Given the description of an element on the screen output the (x, y) to click on. 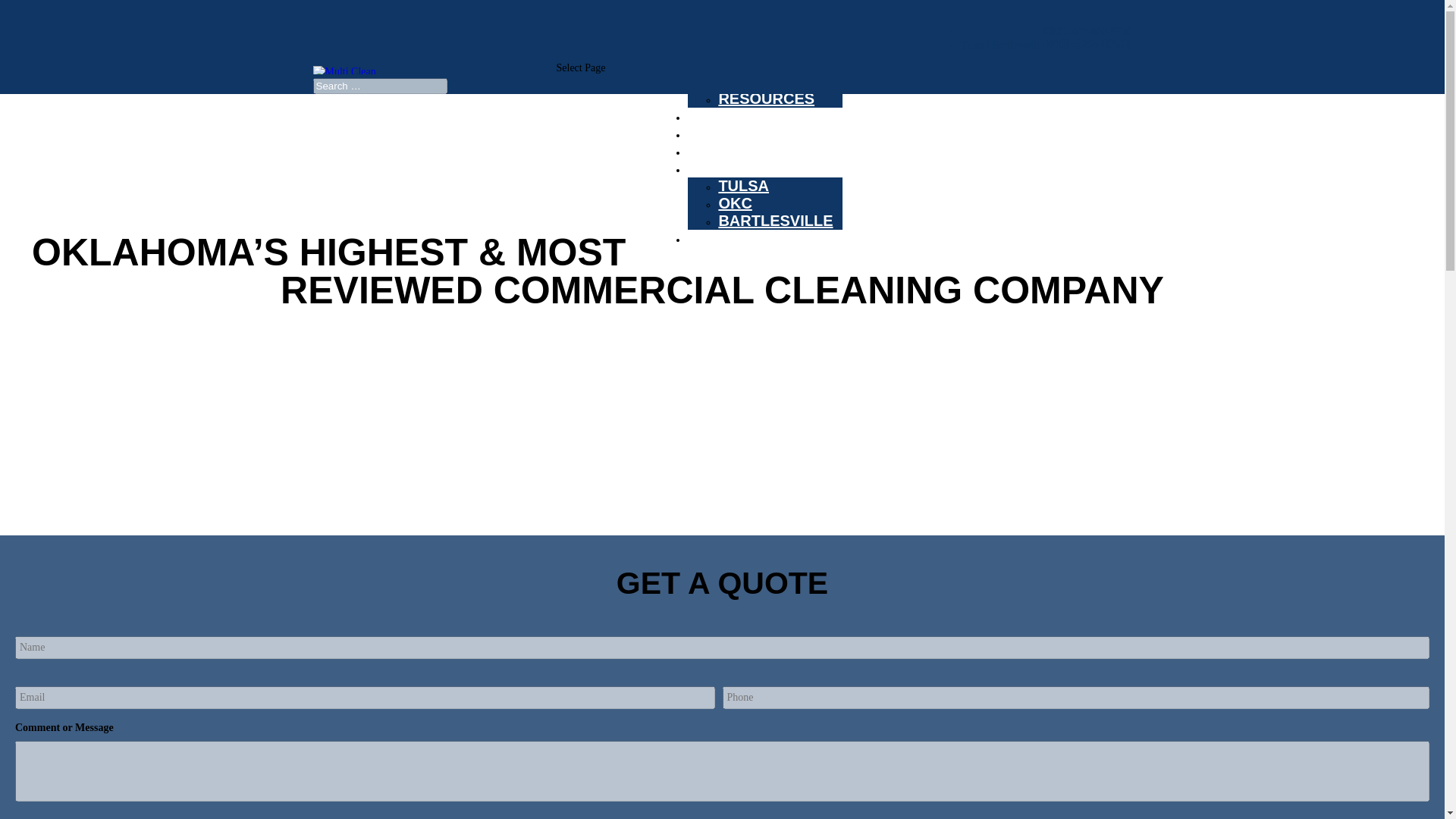
BARTLESVILLE (774, 220)
CONTACT US (736, 243)
Search for: (379, 85)
TESTIMONIALS (743, 139)
LOCATIONS (731, 173)
TULSA (742, 185)
OKC (734, 202)
918-523-8300 (1088, 43)
SERVICES (725, 121)
OKC: 405-600-9790 (1087, 30)
